Given the description of an element on the screen output the (x, y) to click on. 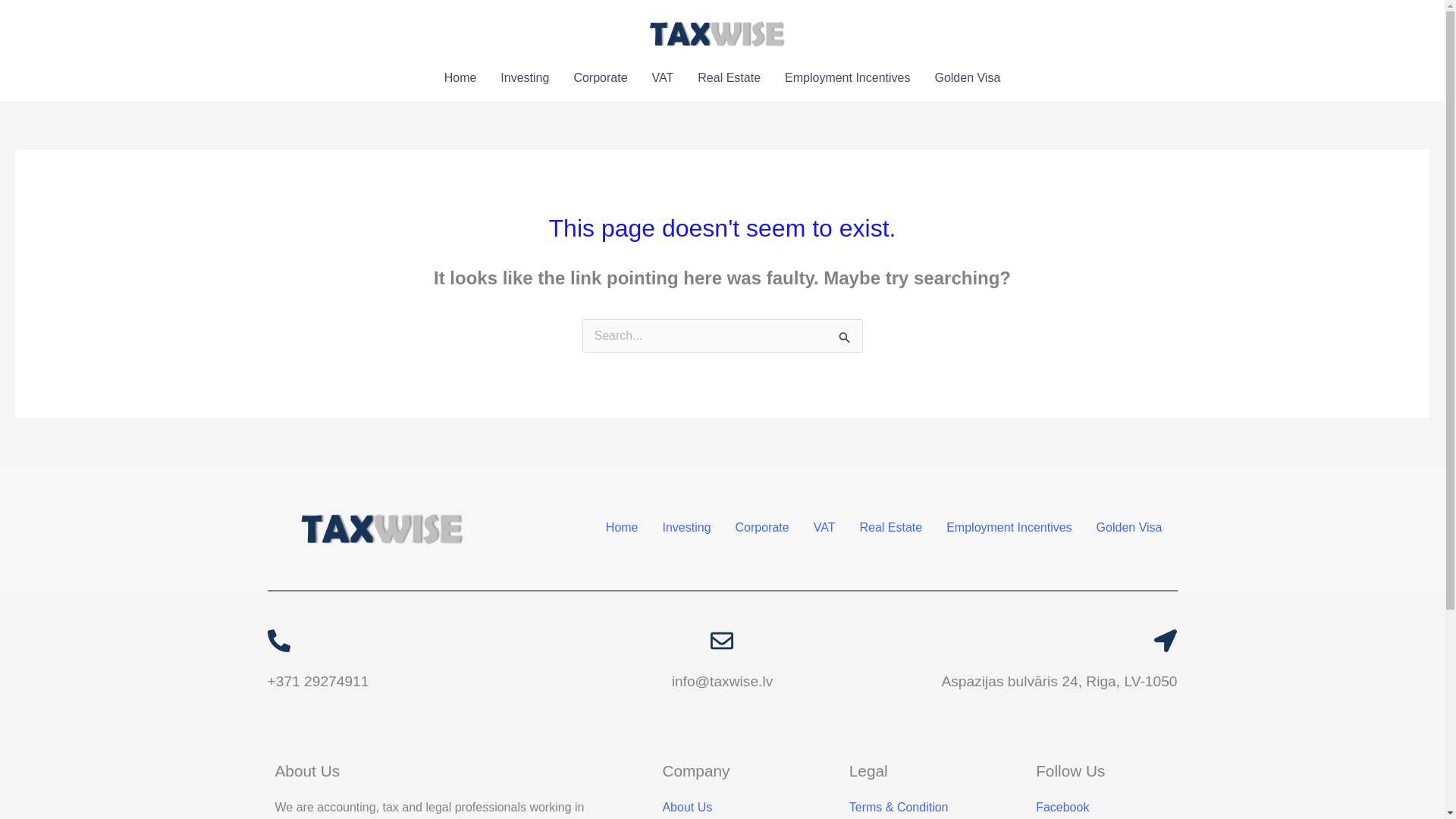
Employment Incentives (847, 77)
About Us (686, 807)
Golden Visa (1129, 527)
Golden Visa (966, 77)
VAT (662, 77)
VAT (824, 527)
Employment Incentives (1008, 527)
Real Estate (729, 77)
Home (460, 77)
Corporate (599, 77)
